Given the description of an element on the screen output the (x, y) to click on. 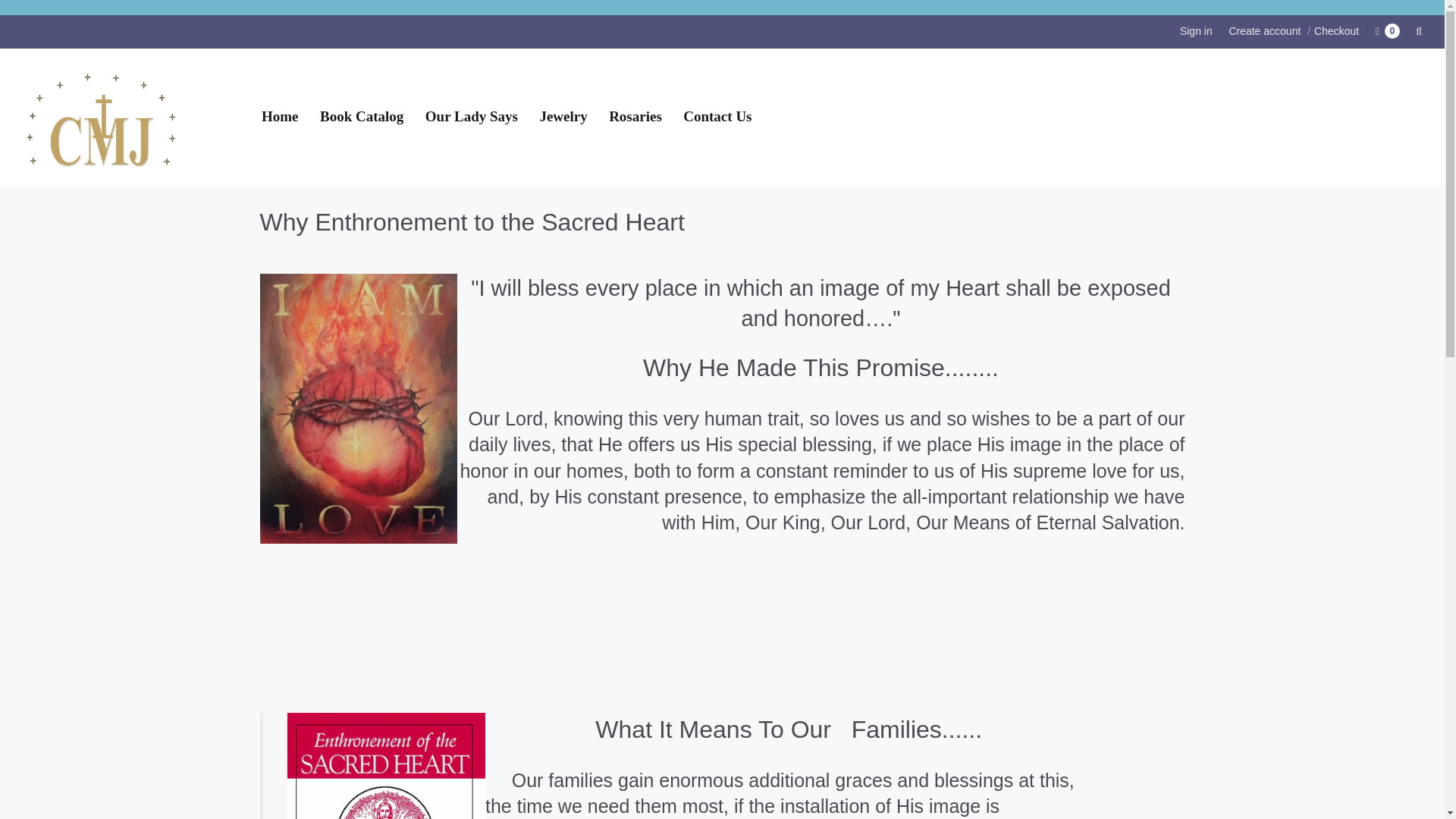
0 (1387, 30)
CMJ Marian Publishers (102, 116)
Home (279, 116)
Sign in (1195, 30)
Checkout (1330, 30)
Contact Us (717, 116)
Rosaries (635, 116)
Jewelry (562, 116)
Our Lady Says (471, 116)
Book Catalog (361, 116)
